Given the description of an element on the screen output the (x, y) to click on. 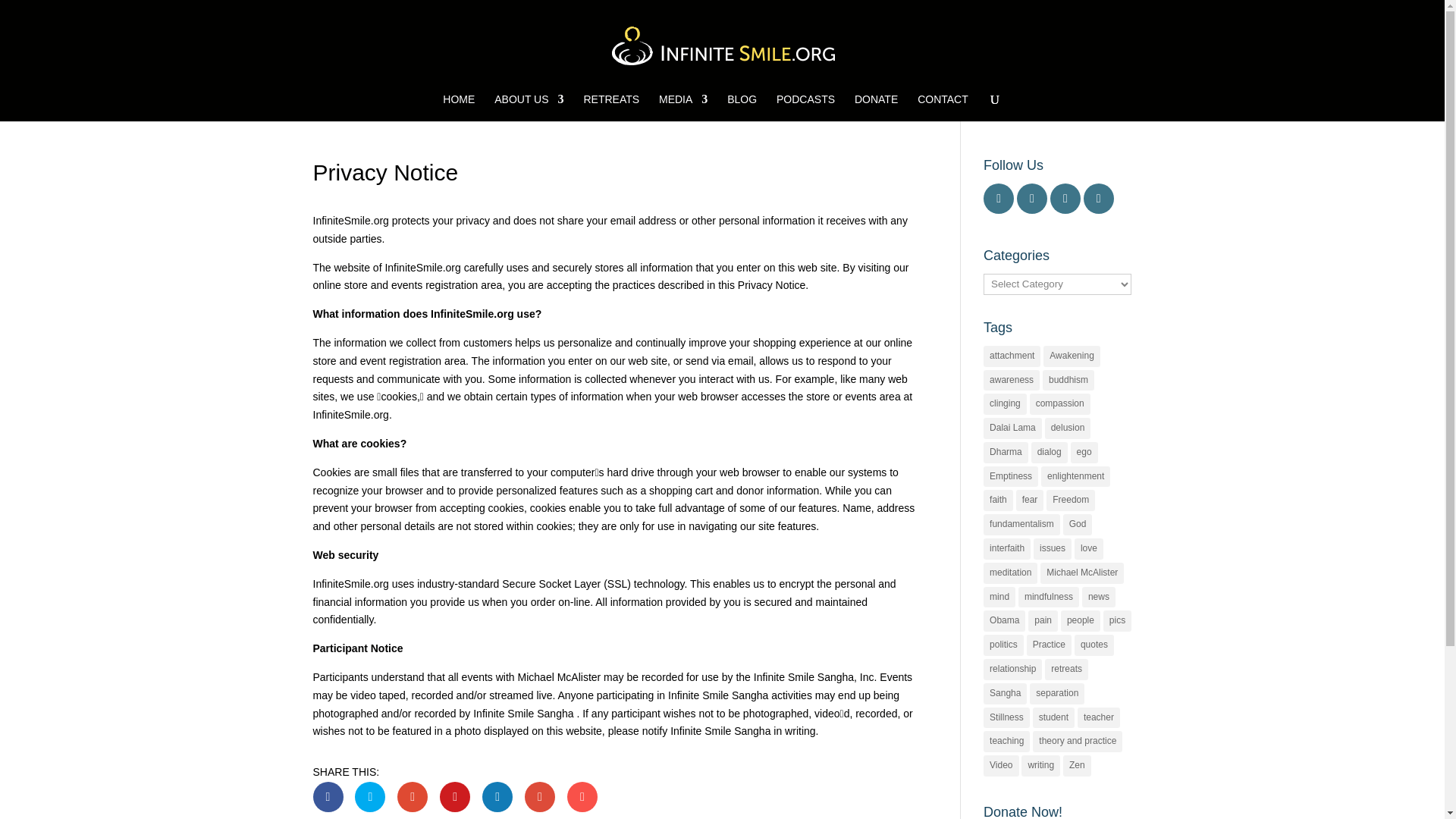
BLOG (741, 107)
buddhism (1068, 380)
ABOUT US (529, 107)
attachment (1012, 355)
Dalai Lama (1013, 427)
DONATE (876, 107)
dialog (1048, 452)
MEDIA (683, 107)
HOME (458, 107)
clinging (1005, 403)
CONTACT (942, 107)
delusion (1067, 427)
ego (1083, 452)
RETREATS (611, 107)
Emptiness (1011, 476)
